Given the description of an element on the screen output the (x, y) to click on. 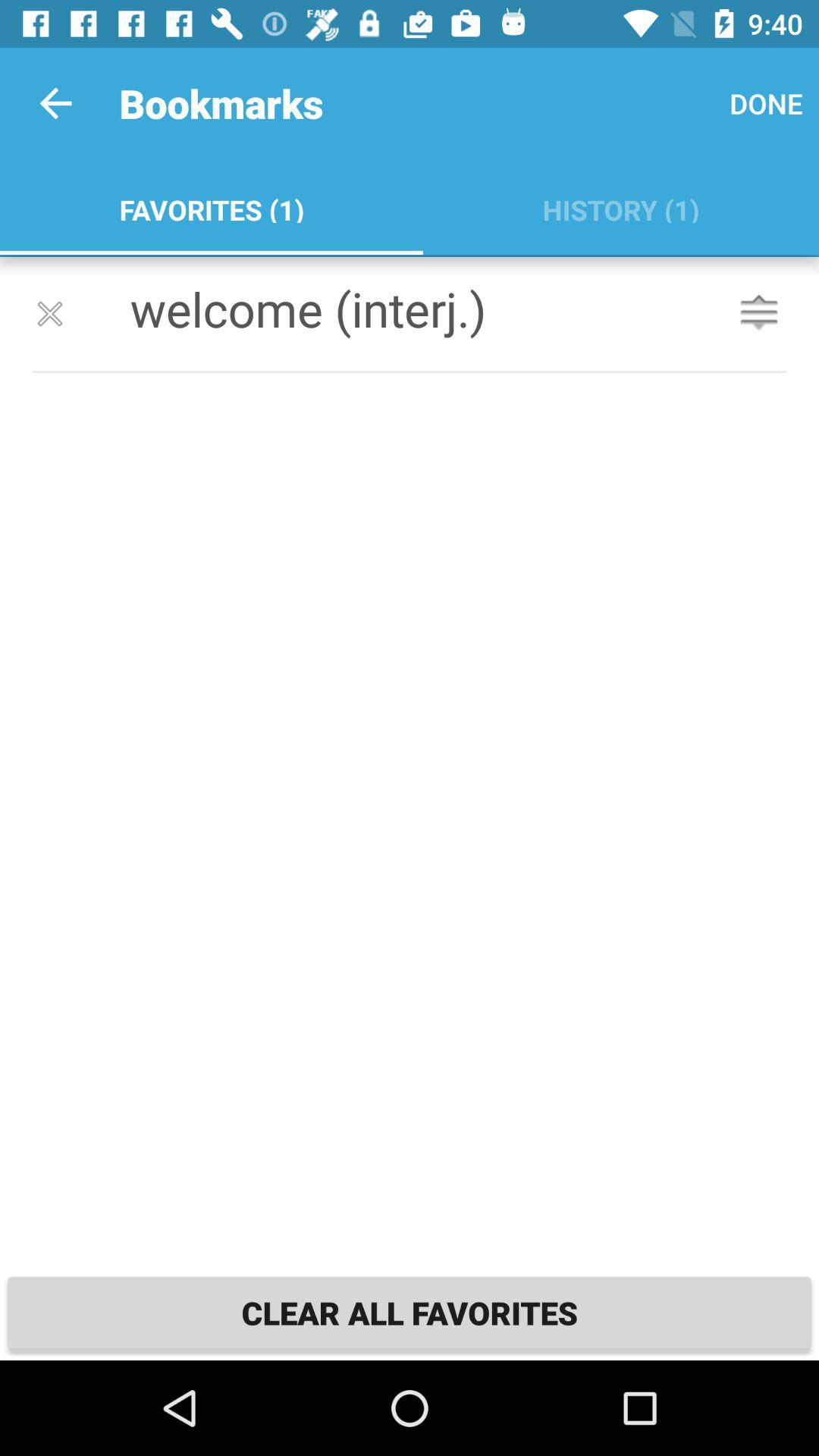
scroll to the favorites (1) item (211, 206)
